Given the description of an element on the screen output the (x, y) to click on. 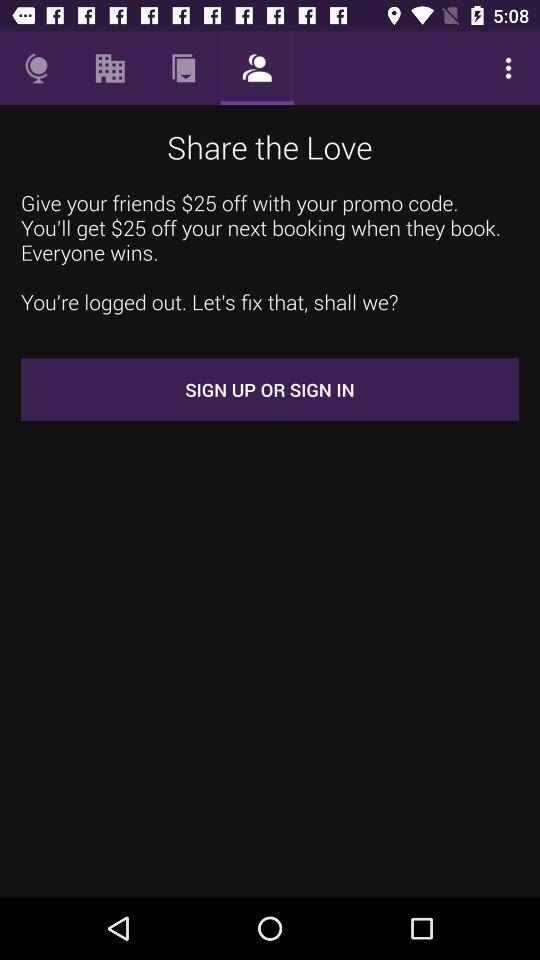
select icon above the give your friends item (36, 68)
